Given the description of an element on the screen output the (x, y) to click on. 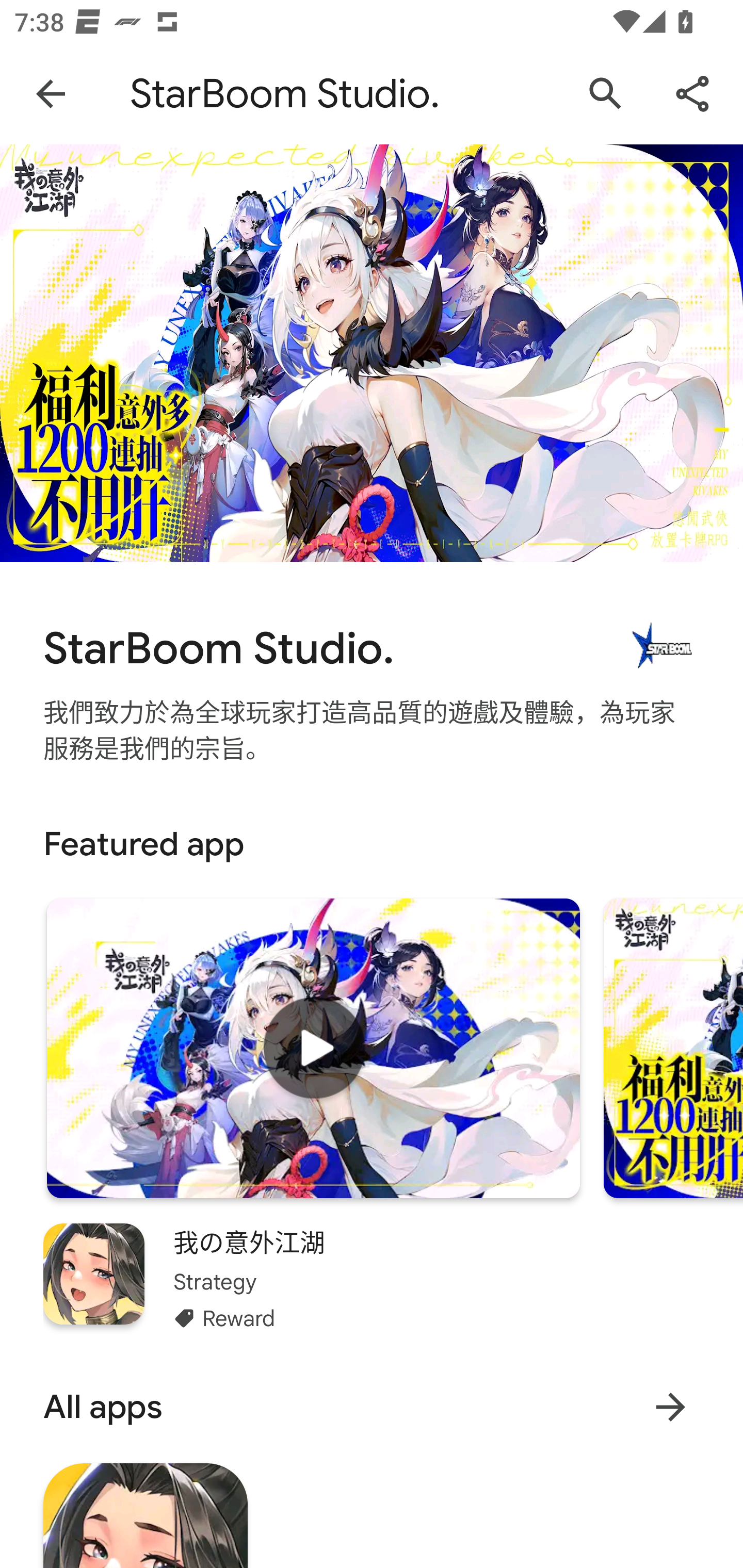
Navigate up (50, 93)
Search Google Play (605, 93)
Share (692, 93)
Play trailer for "我の意外江湖" (313, 1047)
我の意外江湖
Strategy
Reward
 (371, 1278)
All apps More results for All apps (371, 1407)
More results for All apps (670, 1407)
